Given the description of an element on the screen output the (x, y) to click on. 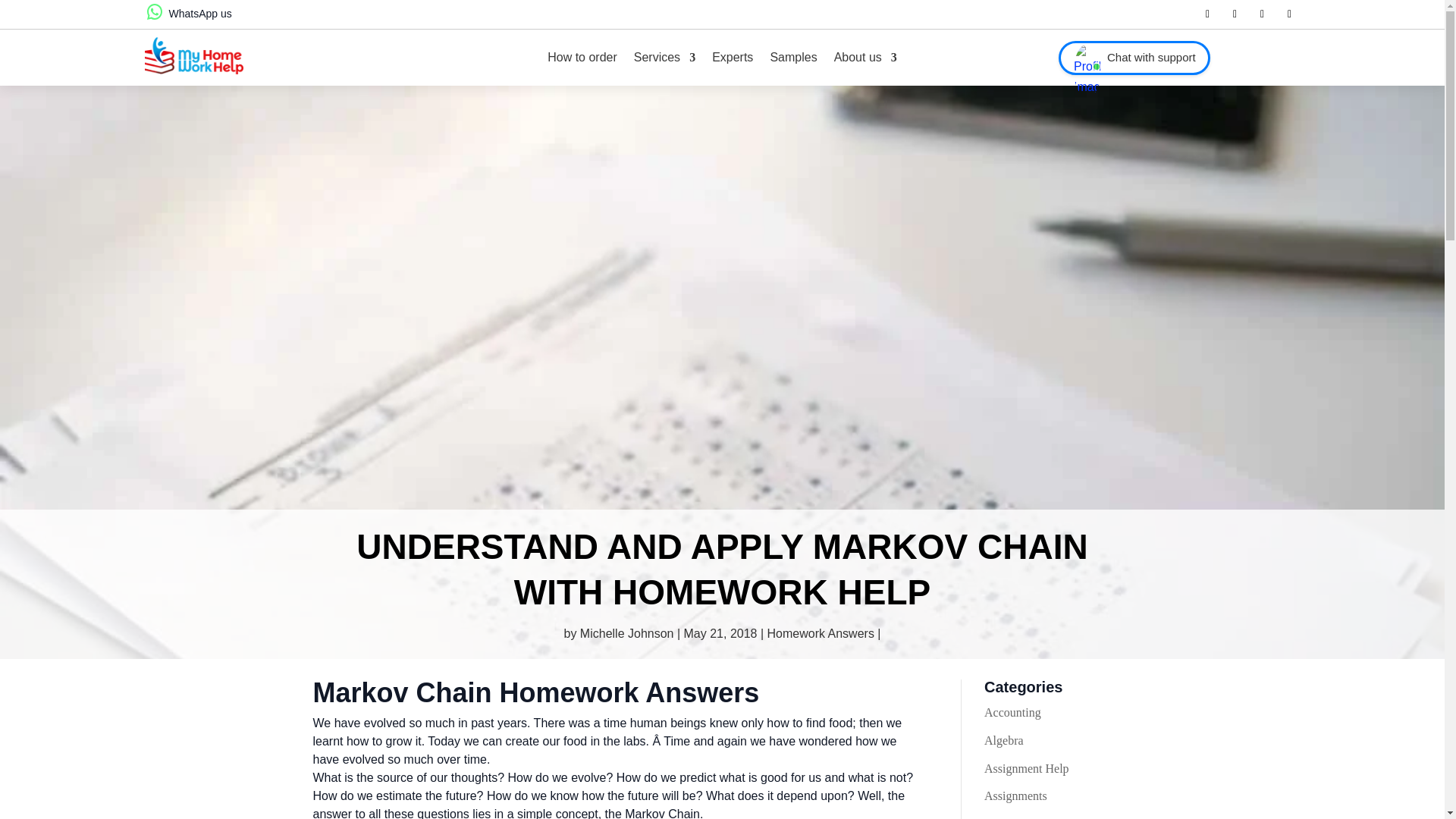
Posts by Michelle Johnson (626, 633)
How to order (582, 57)
Follow on Facebook (1206, 14)
Follow on Instagram (1289, 14)
Services (664, 57)
Follow on X (1234, 14)
Hero-Logo (193, 55)
Follow on LinkedIn (1261, 14)
